Given the description of an element on the screen output the (x, y) to click on. 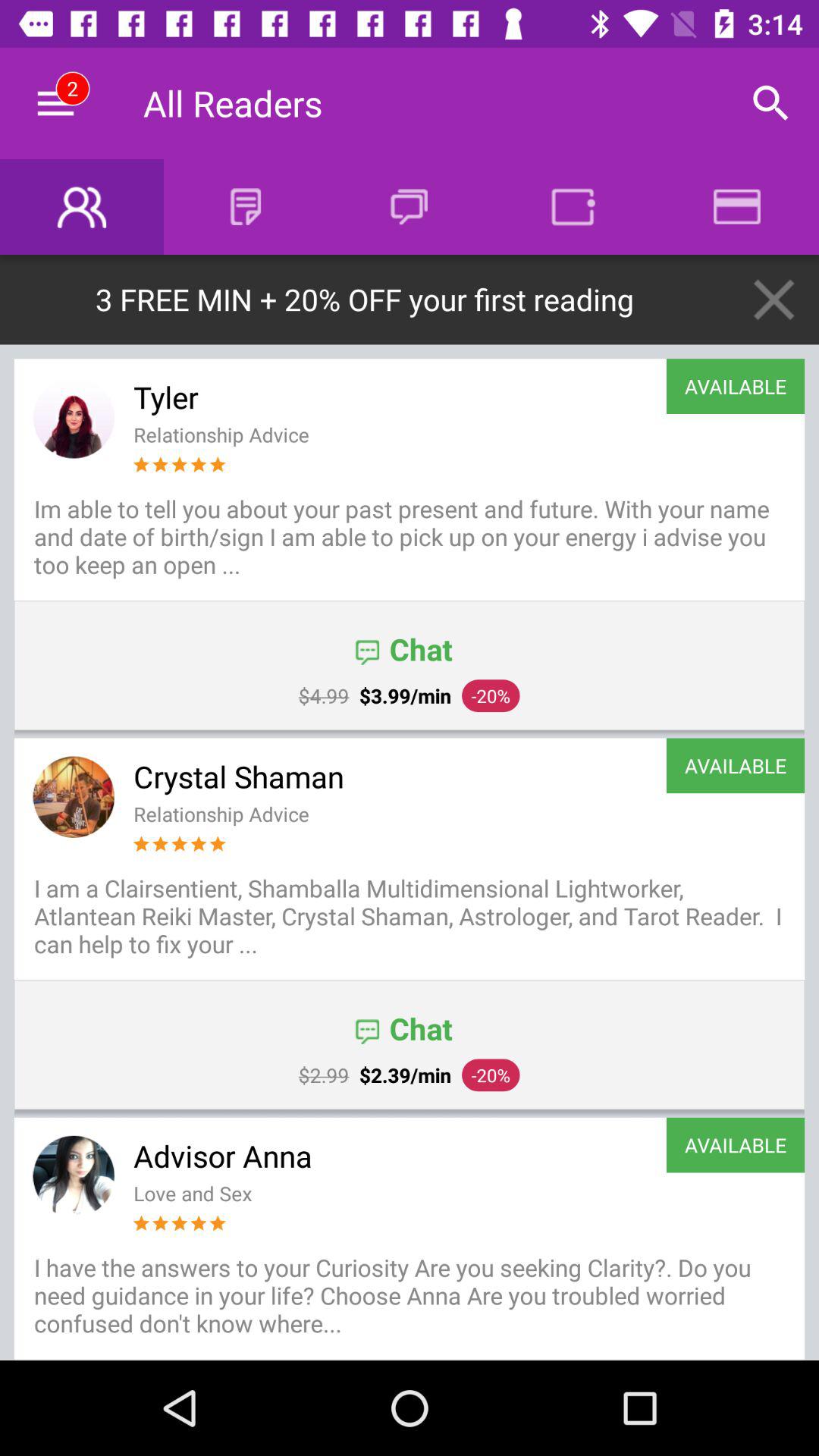
choose the icon to the right of 3 free min icon (774, 299)
